Given the description of an element on the screen output the (x, y) to click on. 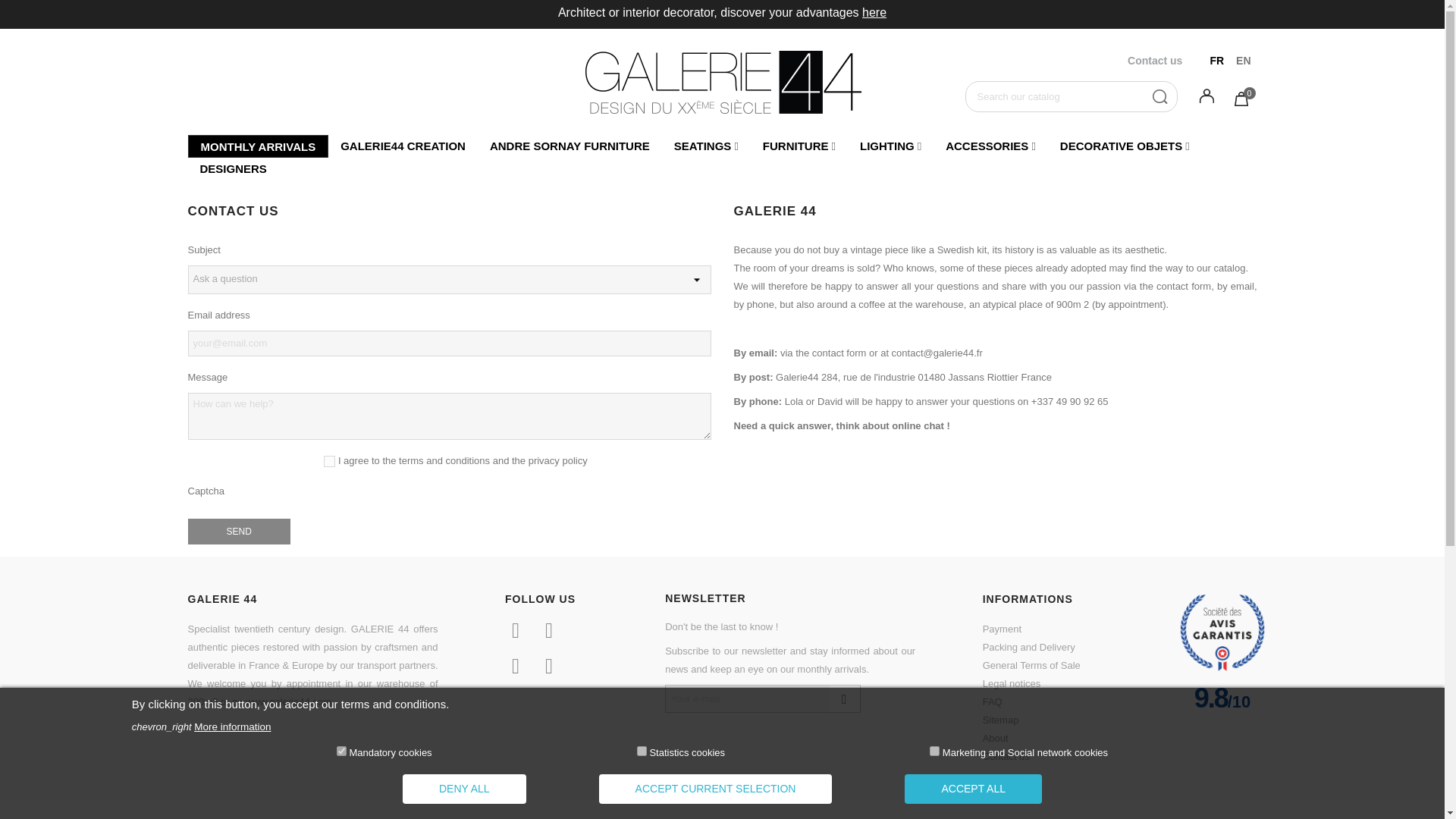
here (873, 11)
FR (1217, 60)
Send (238, 531)
Galerie44 creation (402, 146)
Seatings (706, 146)
FURNITURE (798, 146)
LIGHTING (890, 146)
Galerie 44 (722, 81)
GALERIE44 CREATION (402, 146)
Contact us (1154, 60)
